Given the description of an element on the screen output the (x, y) to click on. 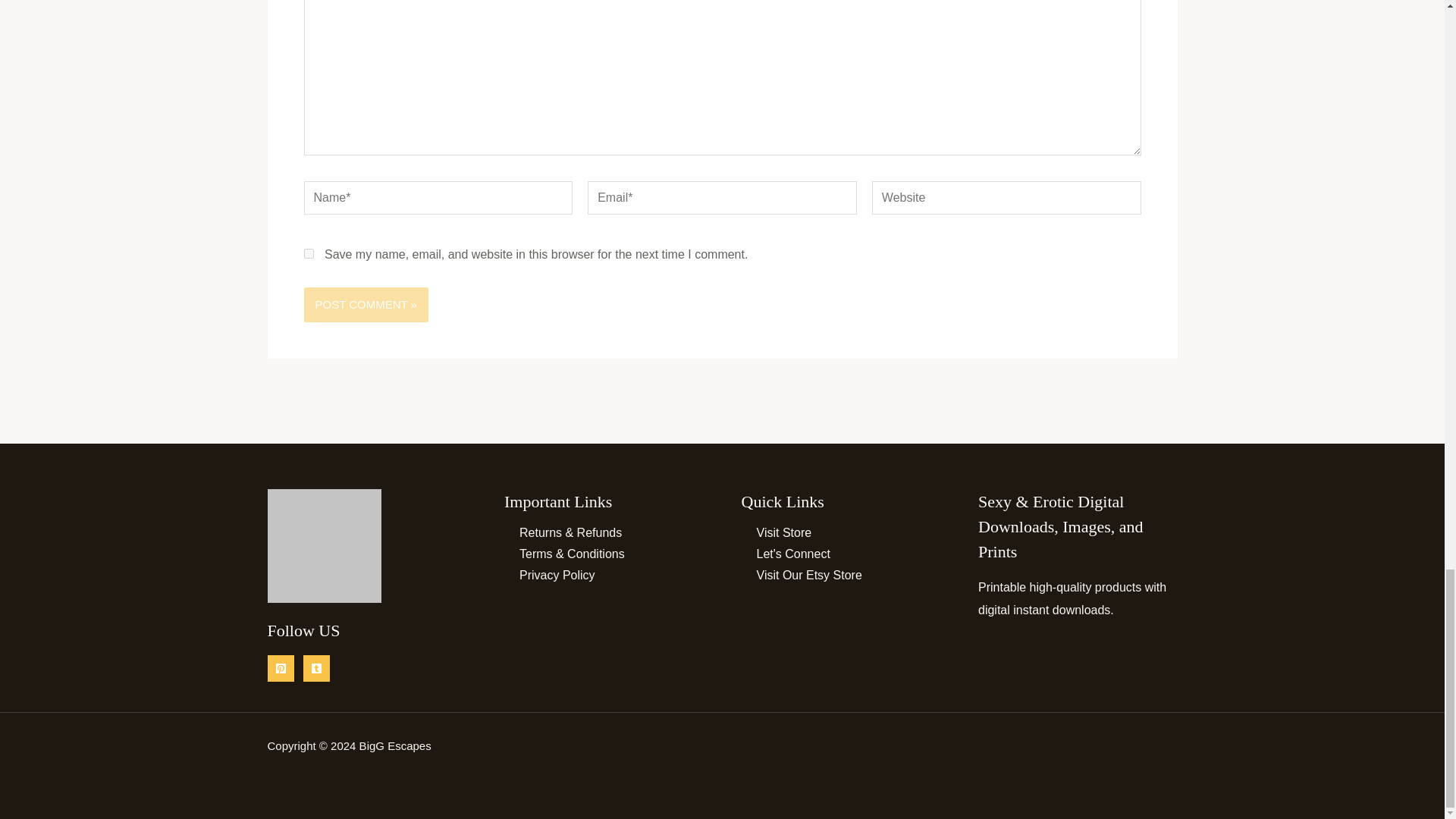
Privacy Policy (549, 575)
Visit Store (776, 532)
Let's Connect (785, 554)
yes (307, 253)
